Given the description of an element on the screen output the (x, y) to click on. 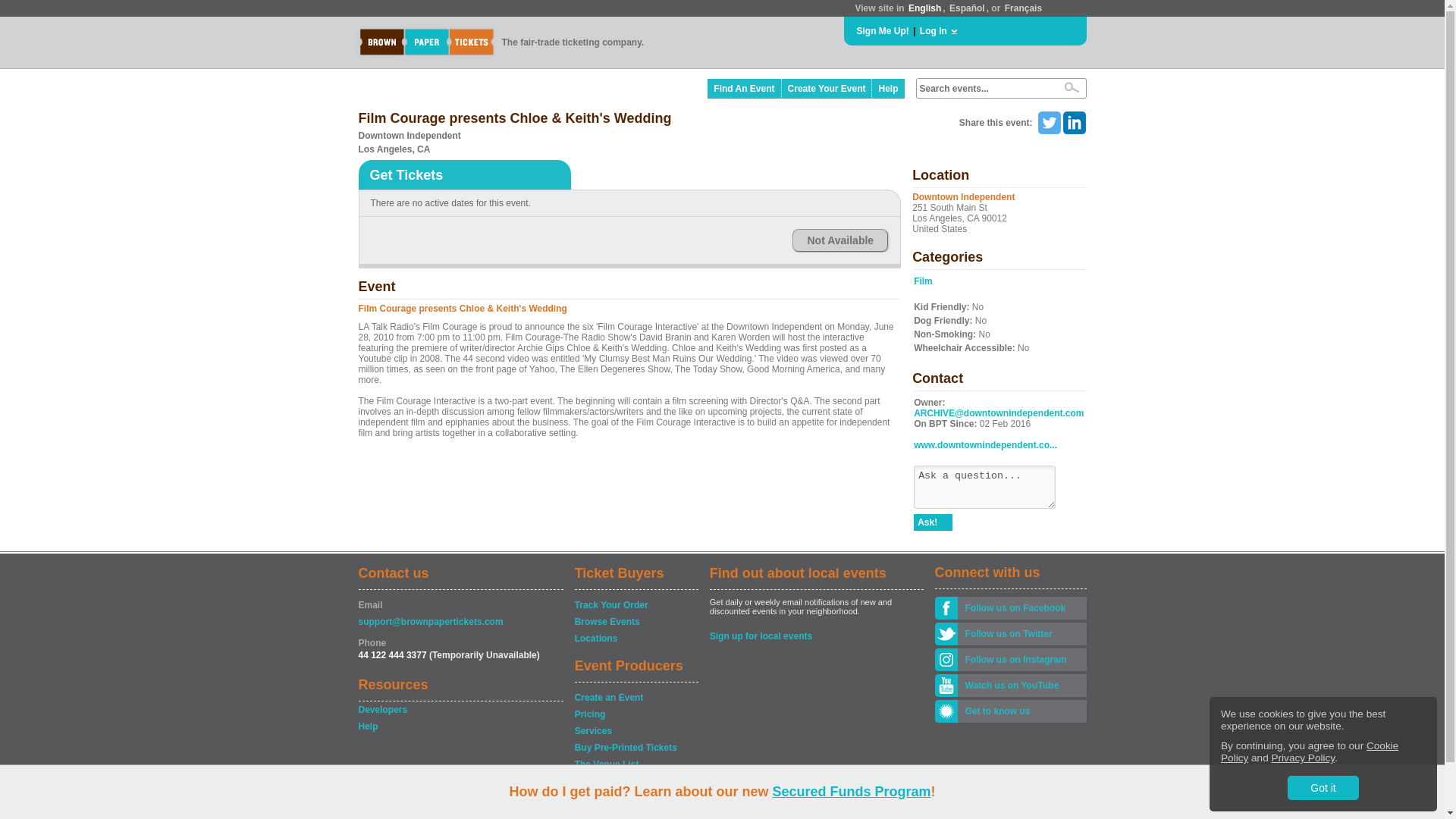
Create an Event (636, 697)
Privacy Policy (1303, 757)
Track Your Order (636, 604)
Follow us on Facebook (1021, 608)
Help (460, 726)
Find An Event (743, 88)
Secured Funds Program (850, 791)
www.downtownindependent.co... (985, 444)
Buy Pre-Printed Tickets (636, 747)
Search events... (984, 88)
